Given the description of an element on the screen output the (x, y) to click on. 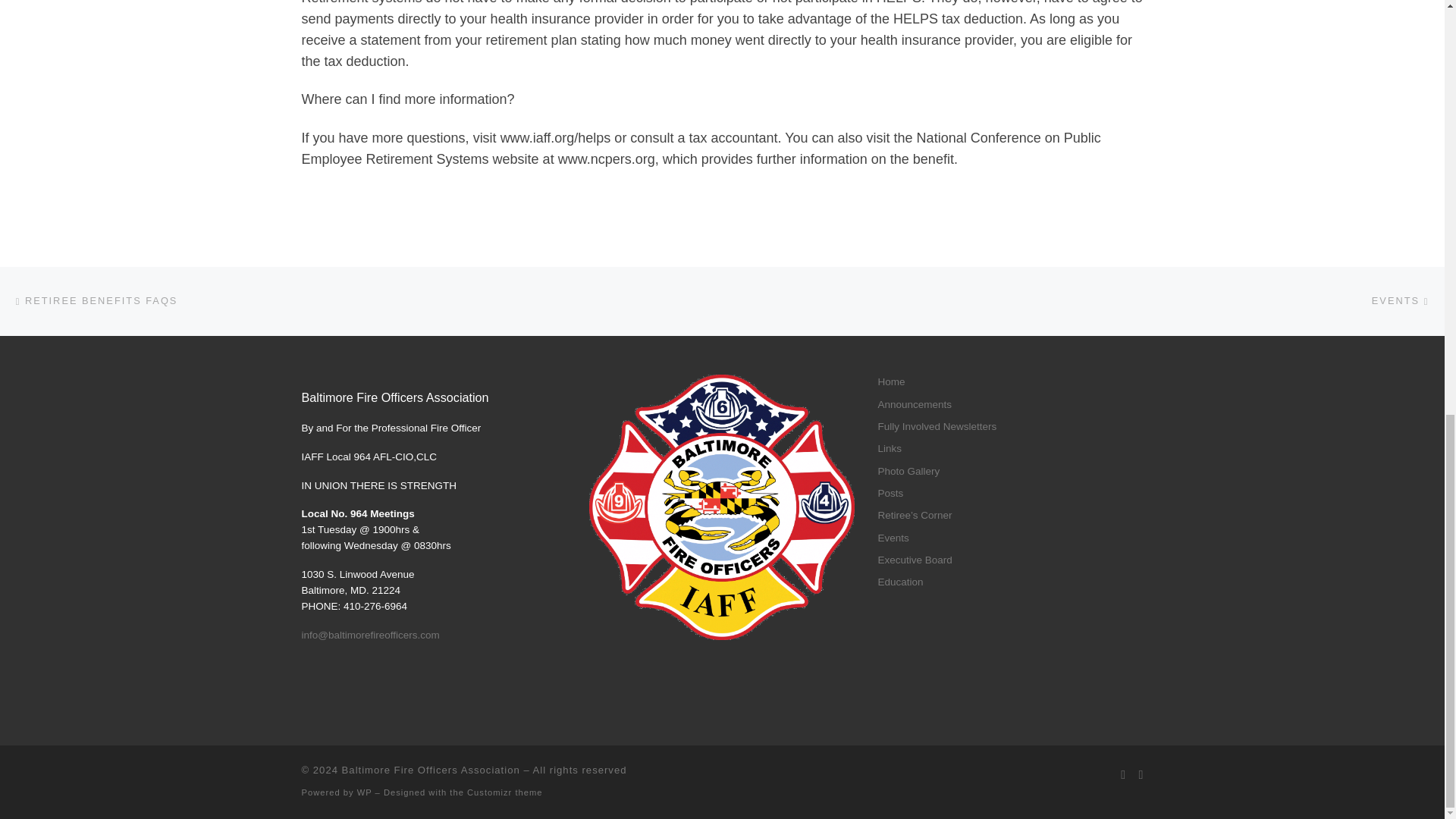
Baltimore Fire Officers Association (430, 769)
Powered by WordPress (364, 791)
Customizr theme (505, 791)
